Given the description of an element on the screen output the (x, y) to click on. 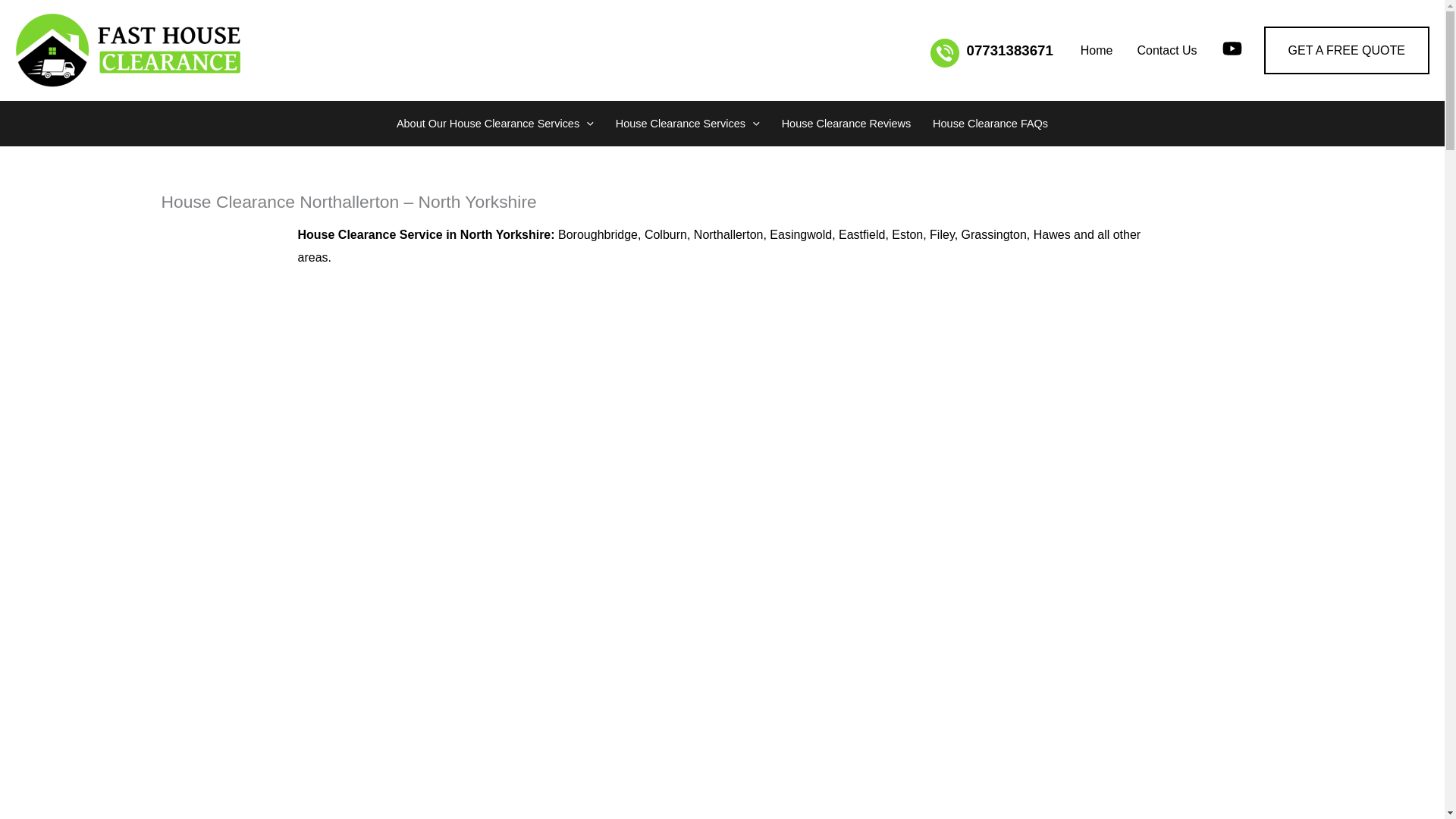
House Clearance Services (687, 123)
Contact Us (1166, 49)
GET A FREE QUOTE (1346, 50)
About Our House Clearance Services (494, 123)
House Clearance Reviews (845, 123)
Home (1096, 49)
House Clearance FAQs (990, 123)
